Given the description of an element on the screen output the (x, y) to click on. 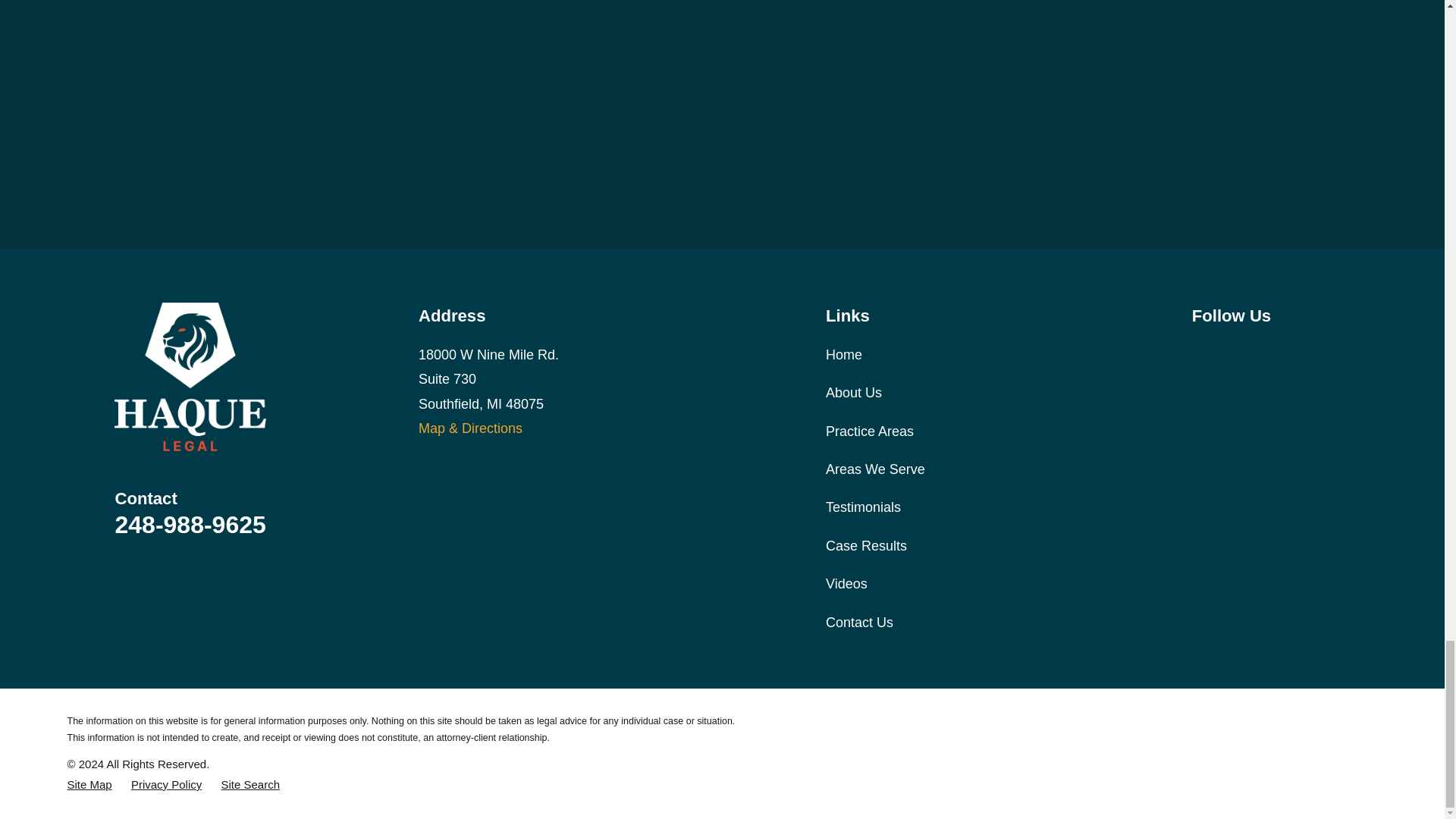
Facebook (1201, 352)
YouTube (1280, 352)
Home (190, 377)
Instagram (1240, 352)
